Given the description of an element on the screen output the (x, y) to click on. 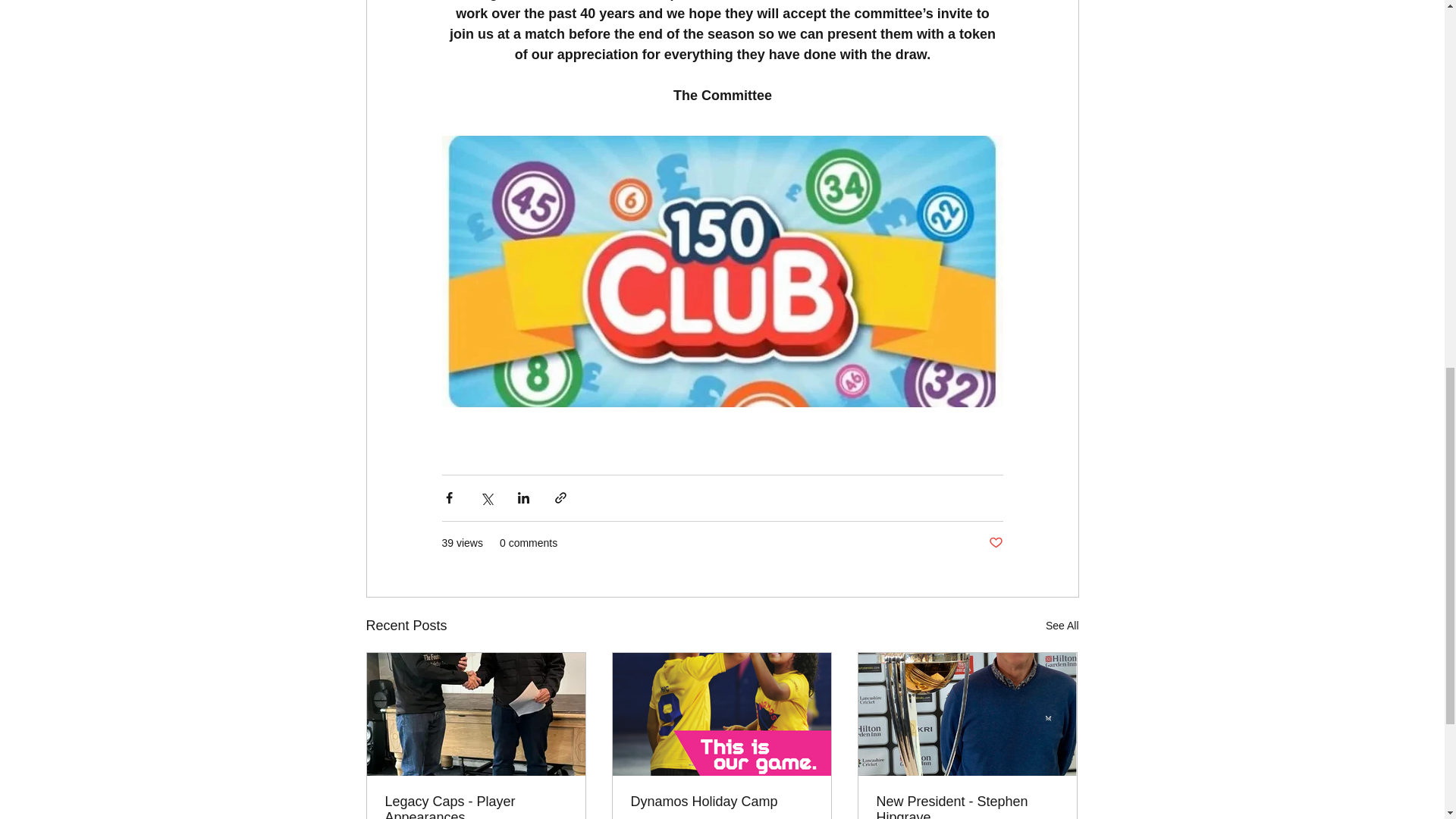
Post not marked as liked (995, 543)
